Given the description of an element on the screen output the (x, y) to click on. 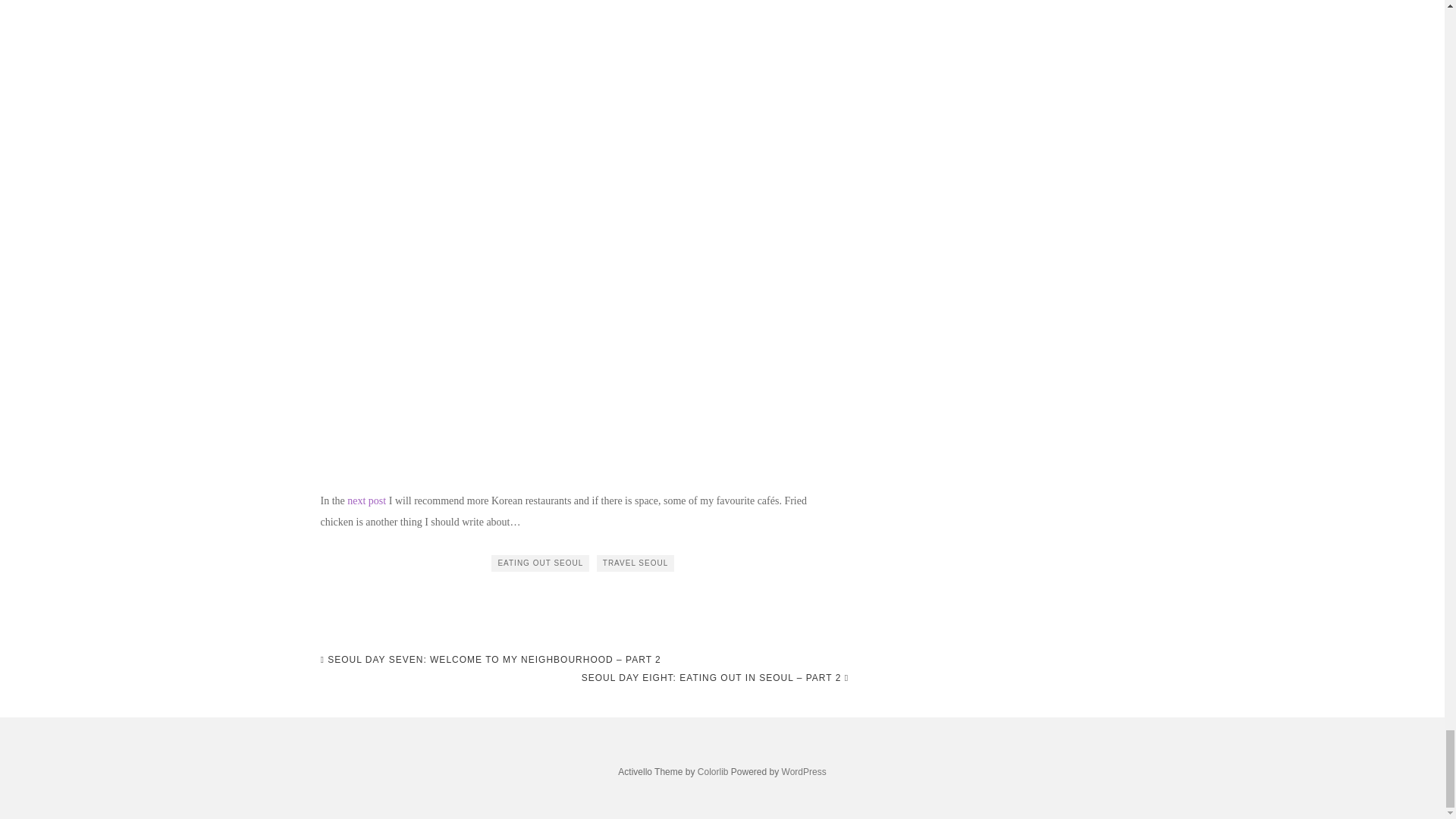
TRAVEL SEOUL (635, 563)
EATING OUT SEOUL (540, 563)
next post (366, 500)
